Given the description of an element on the screen output the (x, y) to click on. 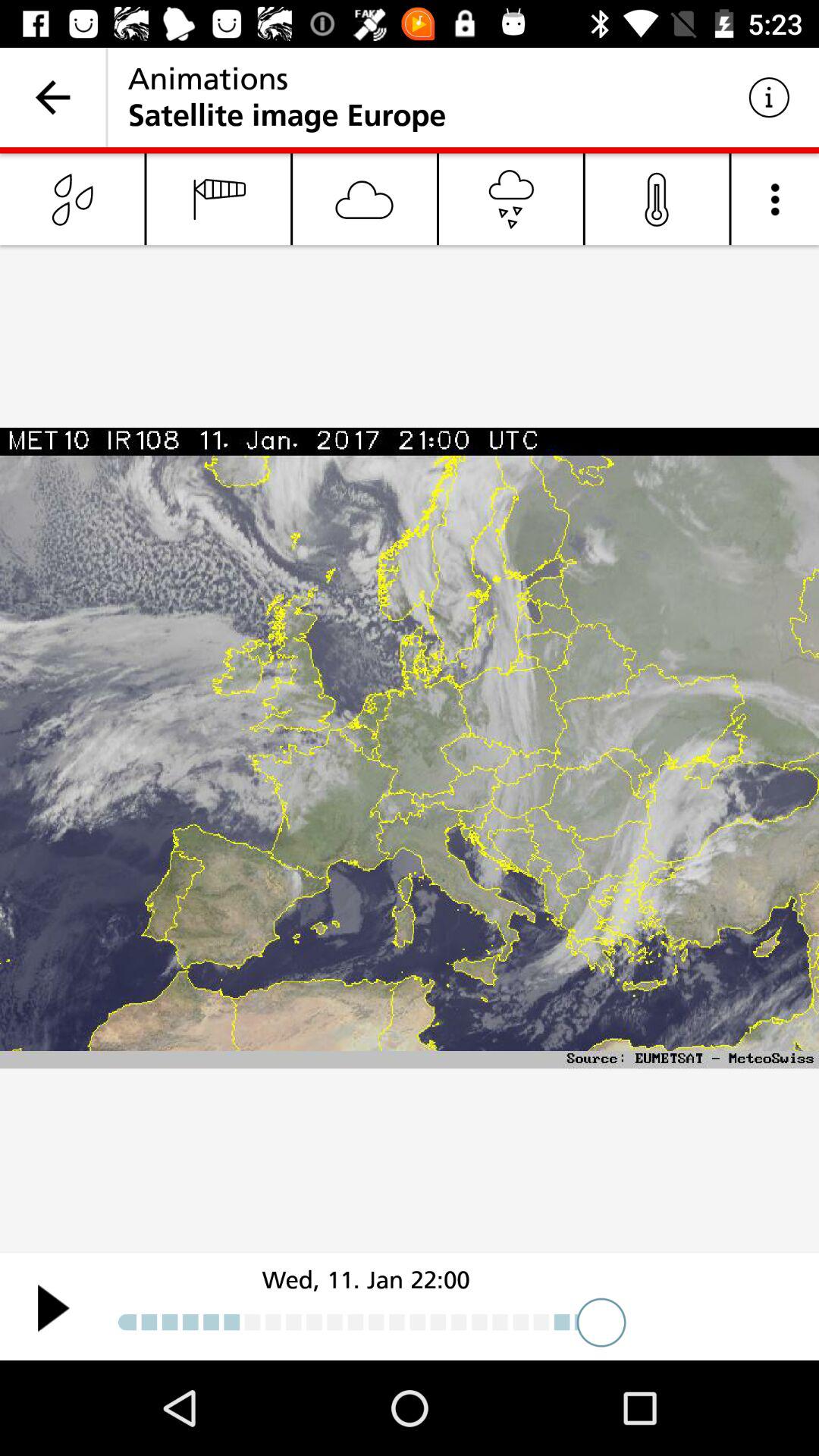
this button is used to find a some other hidden options (775, 199)
